Given the description of an element on the screen output the (x, y) to click on. 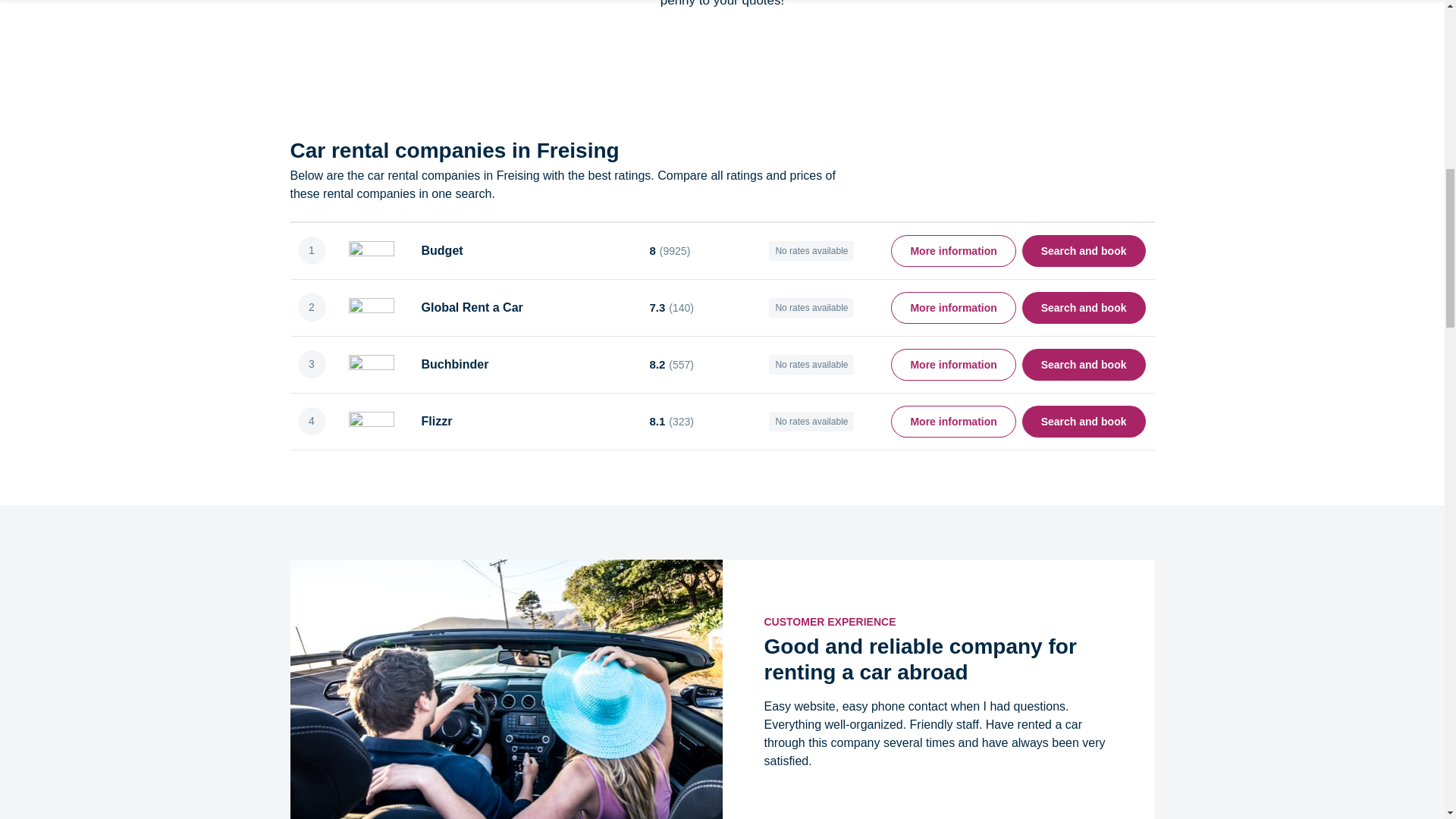
More information (952, 364)
Search and book (1083, 250)
Search and book (1083, 306)
More information (952, 250)
More information (952, 420)
Search and book (1083, 420)
Search and book (1083, 364)
More information (952, 306)
